Given the description of an element on the screen output the (x, y) to click on. 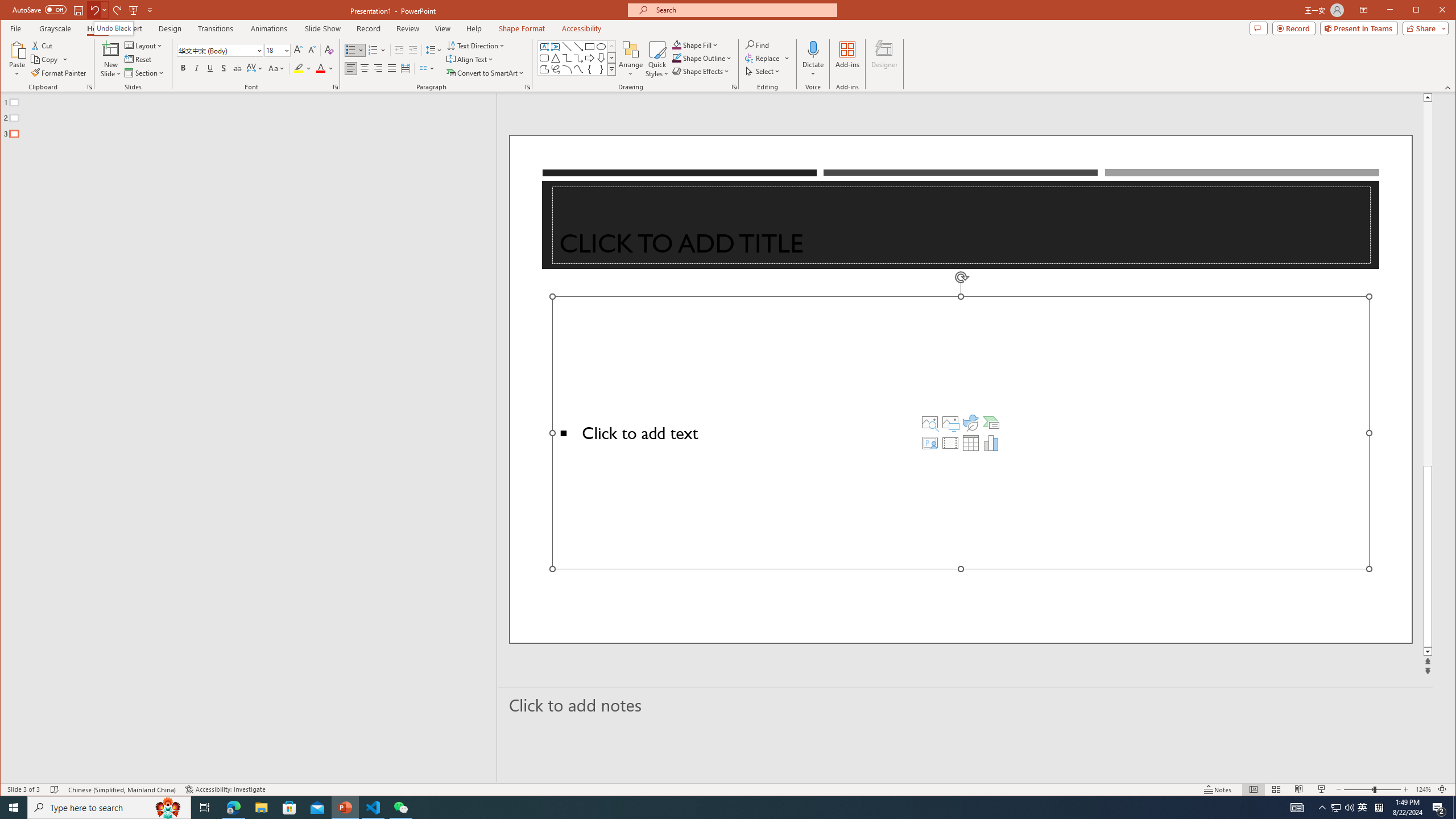
Class: NetUIImage (612, 69)
File Explorer (261, 807)
Change Case (276, 68)
Page up (1427, 283)
Layout (143, 45)
Cut (42, 45)
Arrow: Right (589, 57)
Insert Video (949, 443)
Dictate (812, 48)
Rectangle (589, 46)
Font Size (273, 50)
